Given the description of an element on the screen output the (x, y) to click on. 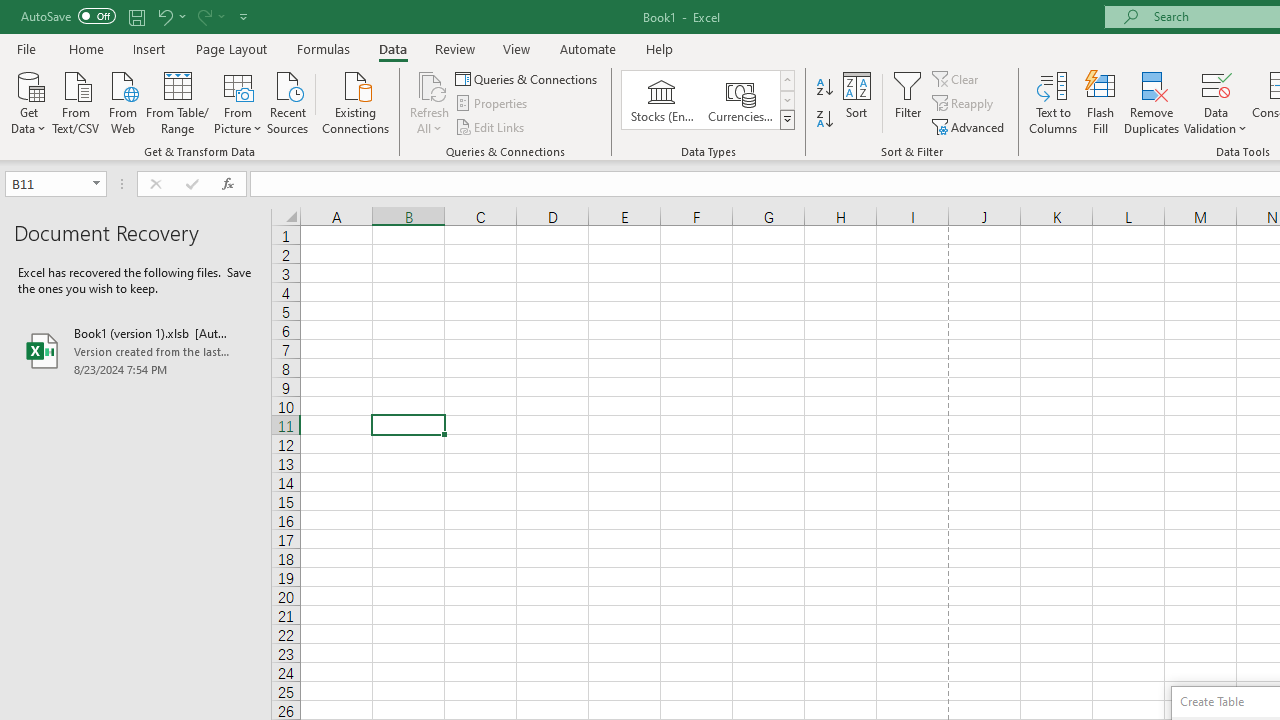
Row Down (786, 100)
Recent Sources (287, 101)
From Picture (238, 101)
Sort A to Z (824, 87)
Remove Duplicates (1151, 102)
Row up (786, 79)
System (10, 11)
Text to Columns... (1053, 102)
Redo (203, 15)
Refresh All (429, 84)
Refresh All (429, 102)
From Table/Range (177, 101)
Data Validation... (1215, 102)
Data Types (786, 120)
Class: NetUIImage (787, 119)
